Given the description of an element on the screen output the (x, y) to click on. 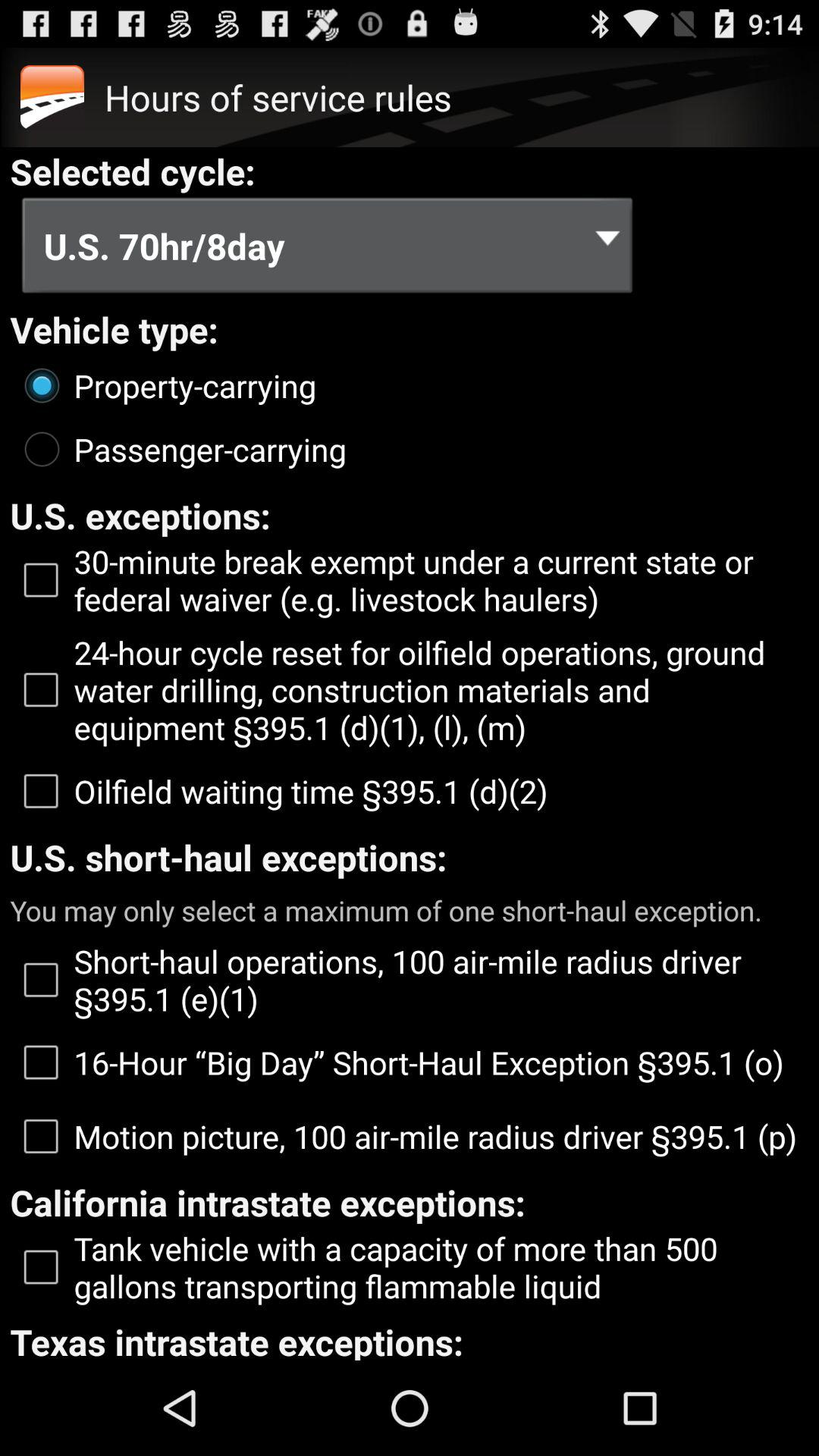
select the last option (409, 1267)
